Given the description of an element on the screen output the (x, y) to click on. 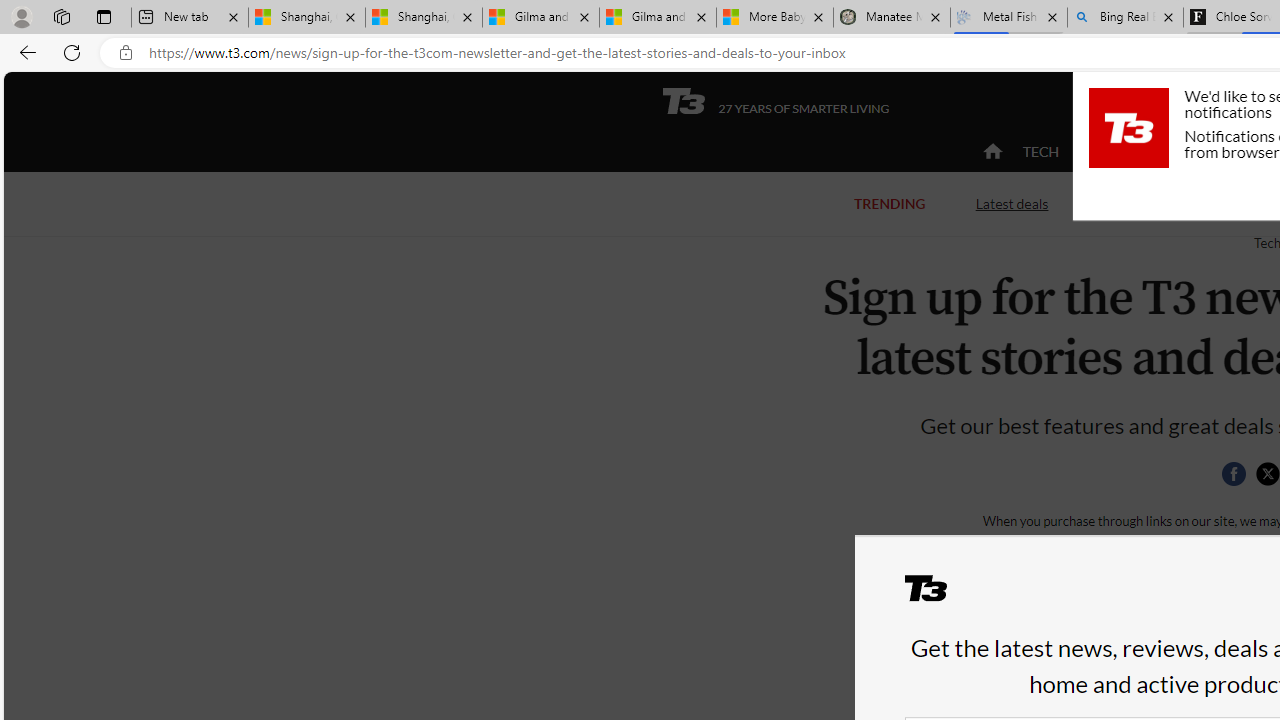
Class: navigation__item (990, 151)
Share this page on Facebook (1233, 474)
HOME LIVING (1233, 151)
Back to Class 2024 (1178, 204)
